Given the description of an element on the screen output the (x, y) to click on. 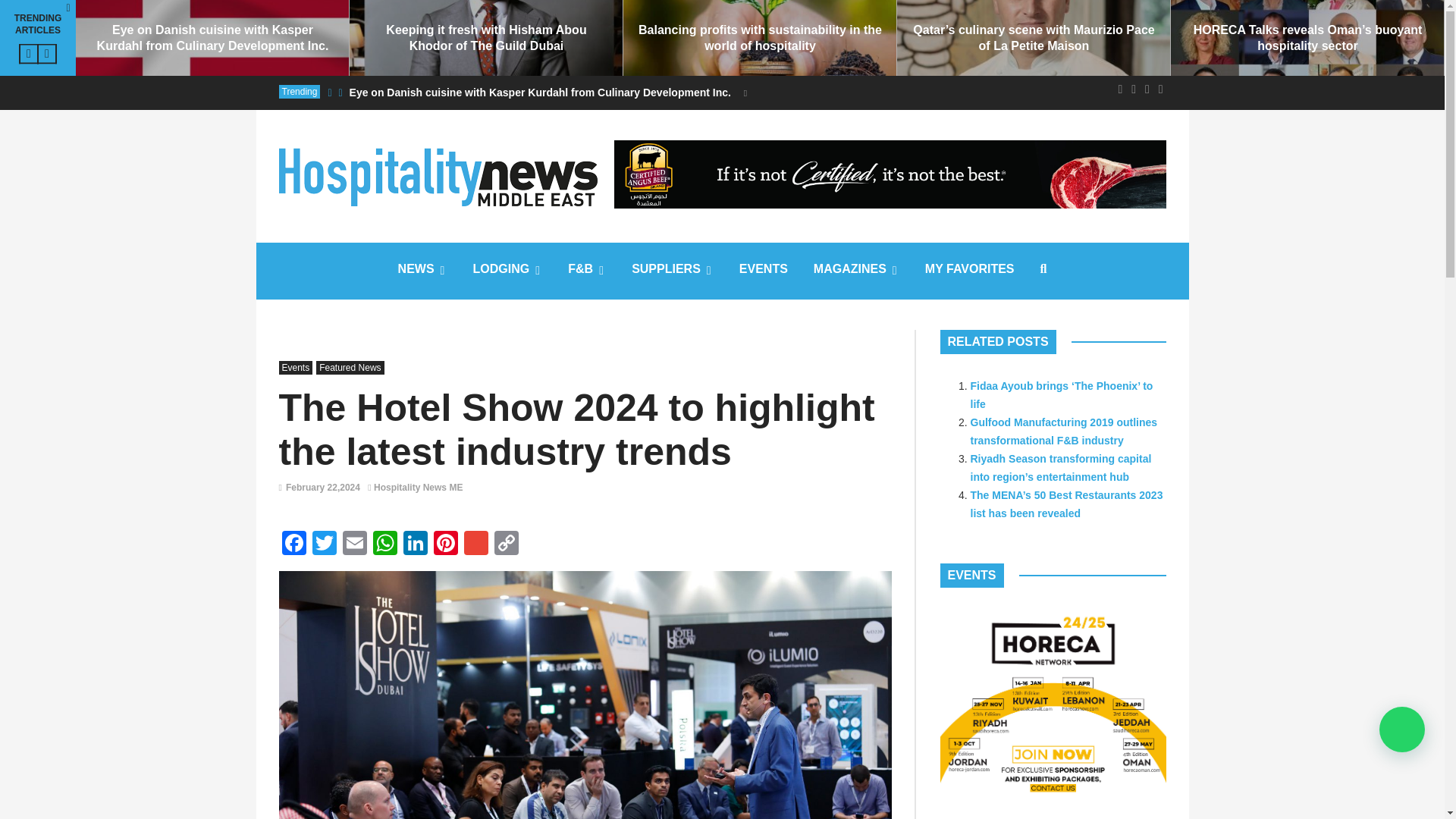
Lodging (508, 270)
News (422, 270)
Search (417, 467)
Keeping it fresh with Hisham Abou Khodor of The Guild Dubai (486, 38)
Trending (299, 91)
